Given the description of an element on the screen output the (x, y) to click on. 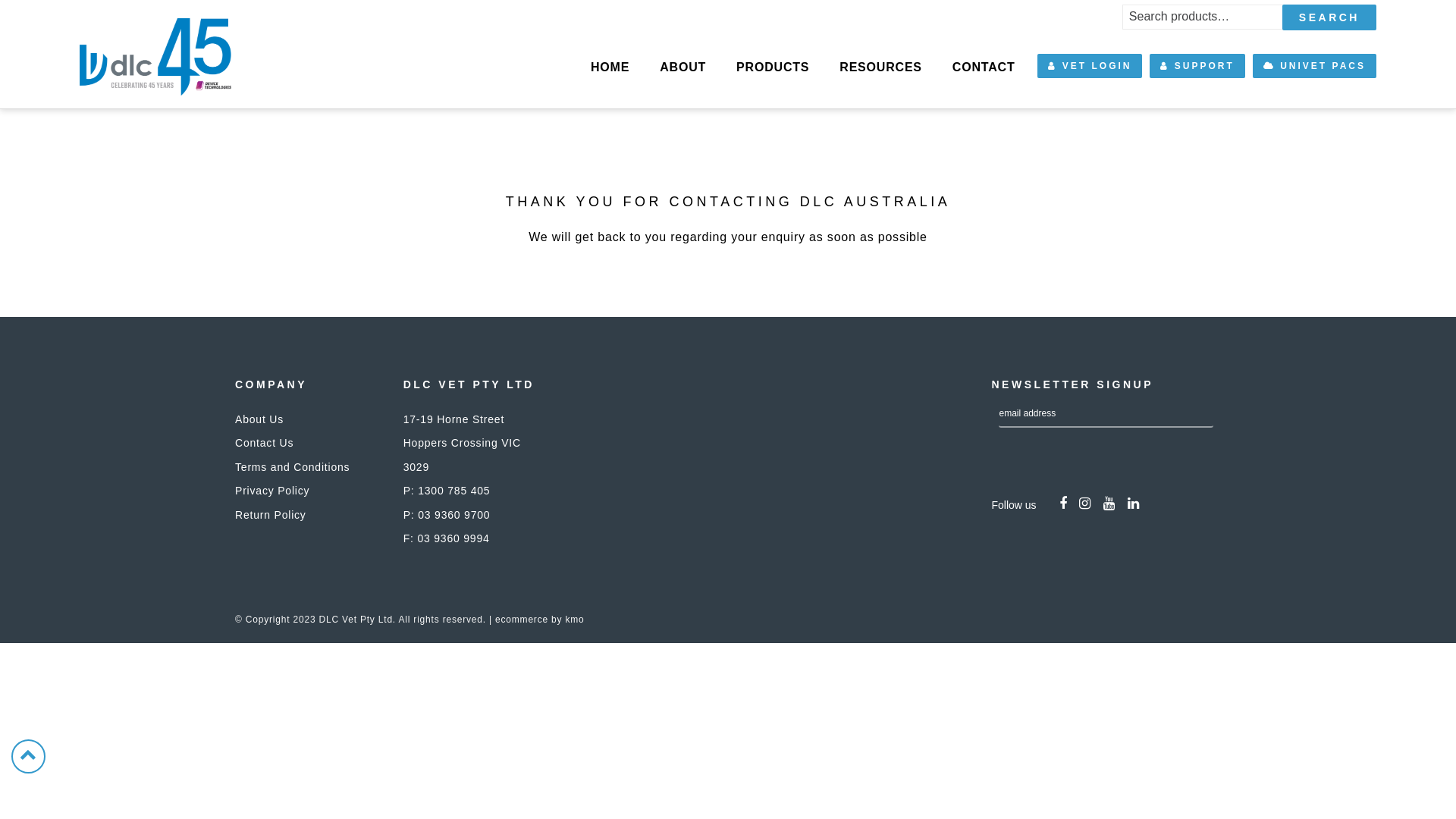
ecommerce by kmo Element type: text (539, 619)
VET LOGIN Element type: text (1089, 65)
youtube Element type: hover (1109, 503)
03 9360 9700 Element type: text (453, 514)
linkedin Element type: hover (1133, 503)
UNIVET PACS Element type: text (1314, 65)
Contact Us Element type: text (264, 442)
1300 785 405 Element type: text (453, 490)
About Us Element type: text (259, 419)
HOME Element type: text (609, 67)
Terms and Conditions Element type: text (292, 467)
facebook Element type: hover (1063, 503)
CONTACT Element type: text (983, 67)
Privacy Policy Element type: text (272, 490)
SUPPORT Element type: text (1196, 65)
SEARCH Element type: text (1329, 17)
RESOURCES Element type: text (880, 67)
Scroll to top Element type: hover (28, 756)
instagram Element type: hover (1085, 503)
PRODUCTS Element type: text (772, 67)
Return Policy Element type: text (270, 514)
ABOUT Element type: text (682, 67)
